Given the description of an element on the screen output the (x, y) to click on. 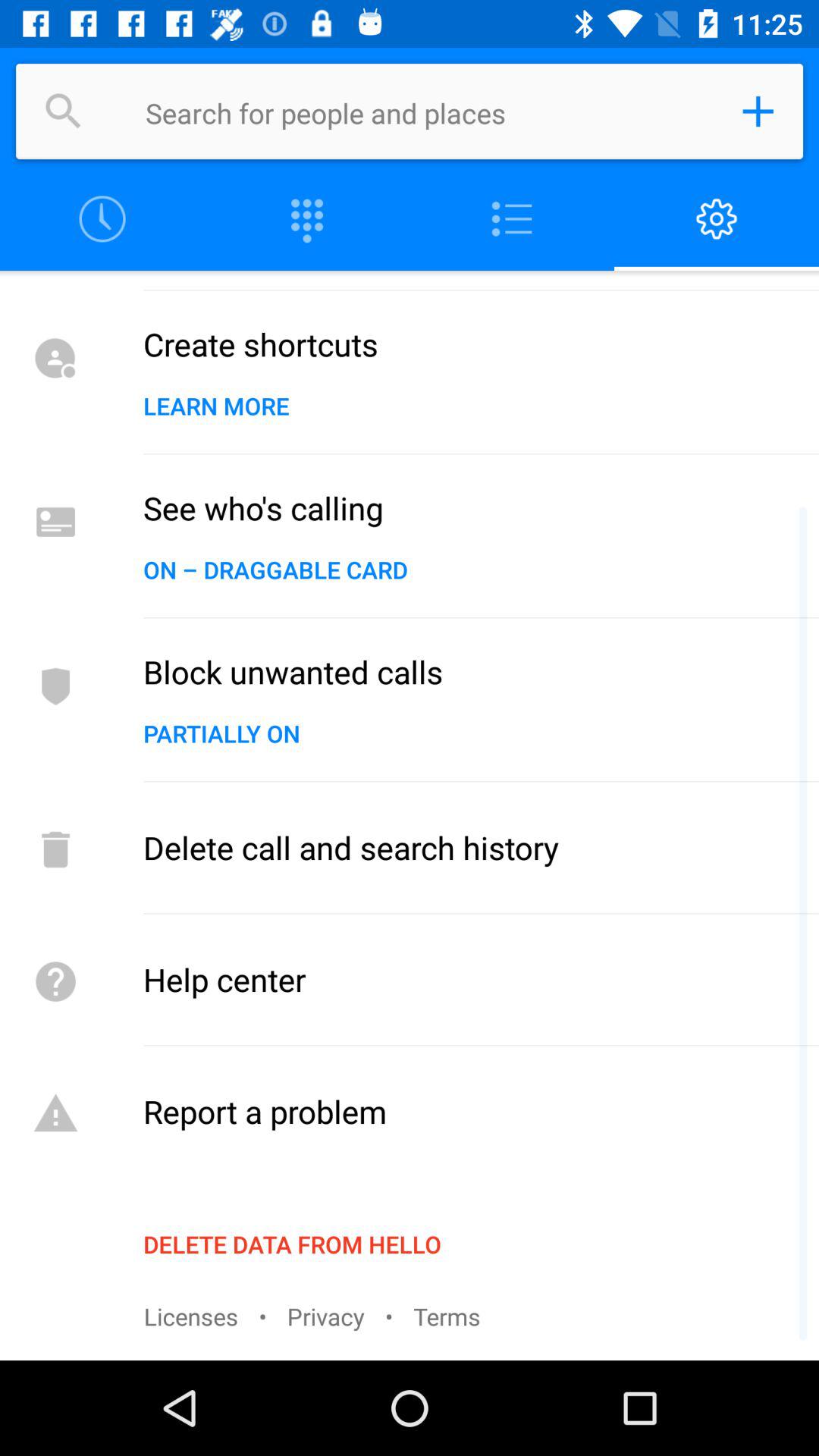
click the terms (446, 1316)
